Given the description of an element on the screen output the (x, y) to click on. 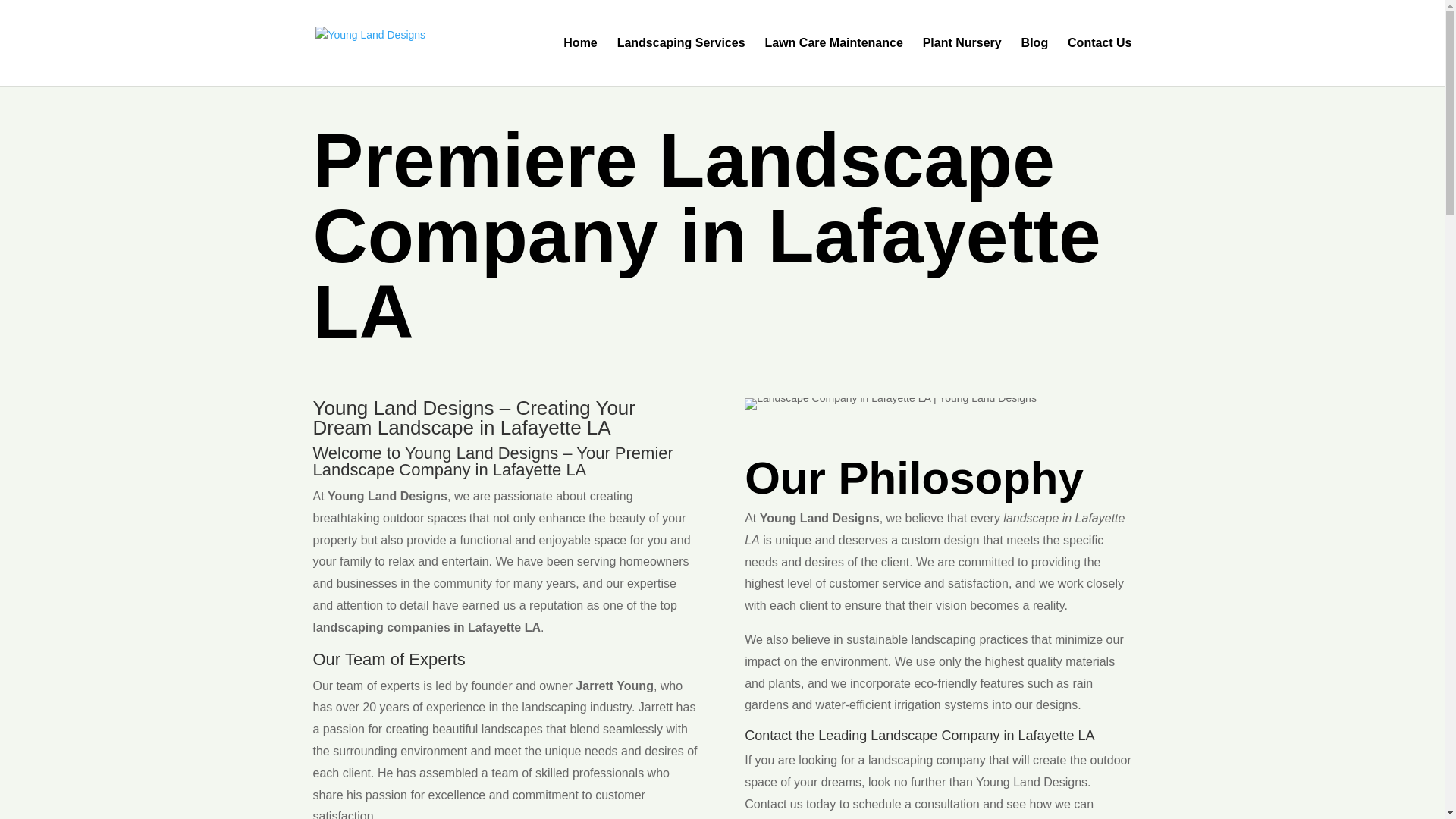
Contact Us (1099, 61)
Lawn Care Maintenance (833, 61)
Landscaping Services (681, 61)
Plant Nursery (962, 61)
